Given the description of an element on the screen output the (x, y) to click on. 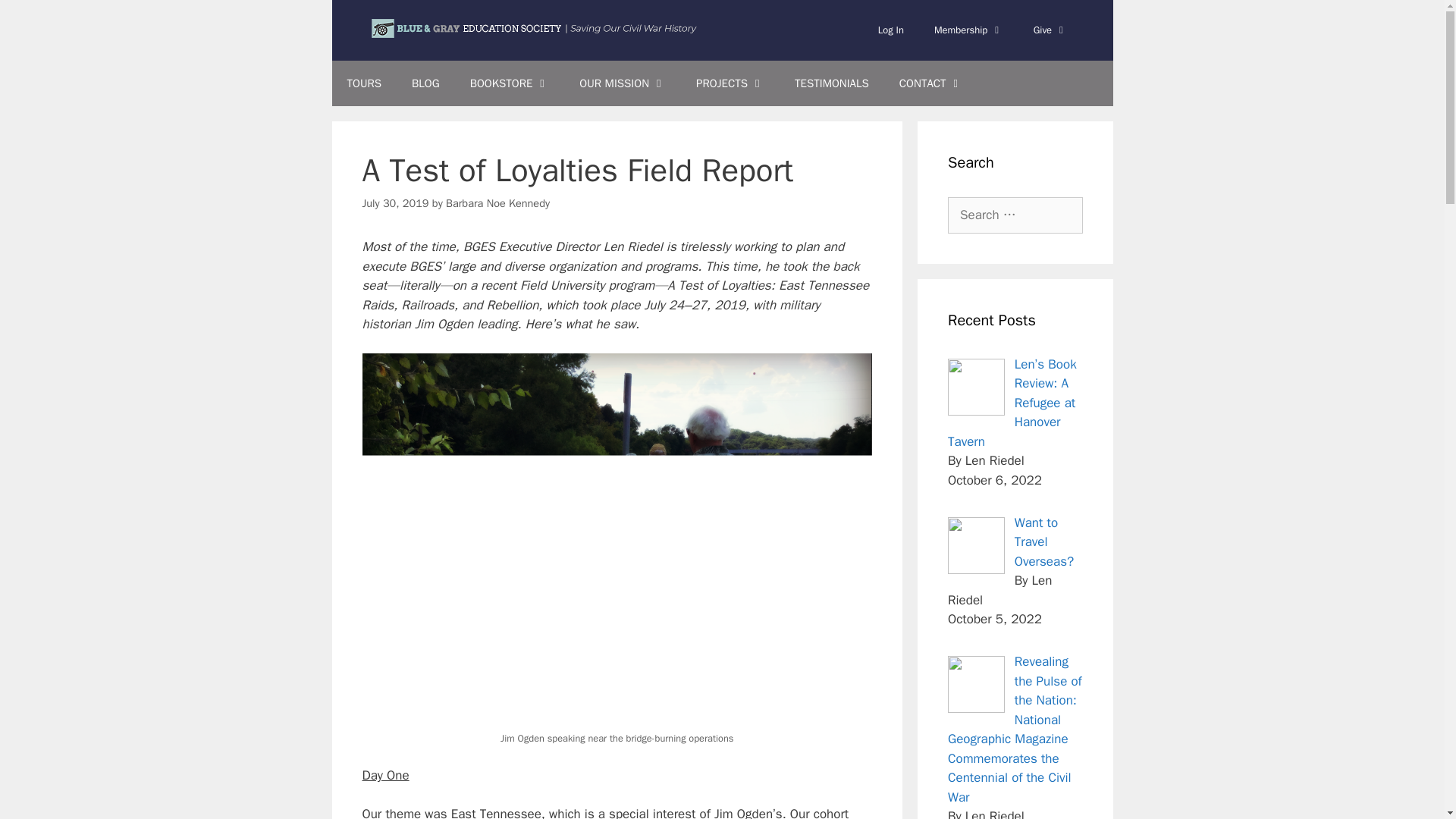
Blue and Gray Education Society (535, 29)
Give (1050, 30)
View all posts by Barbara Noe Kennedy (497, 202)
PROJECTS (729, 83)
BOOKSTORE (509, 83)
Log In (890, 30)
BLOG (425, 83)
OUR MISSION (622, 83)
Membership (967, 30)
Search for: (1015, 215)
